Given the description of an element on the screen output the (x, y) to click on. 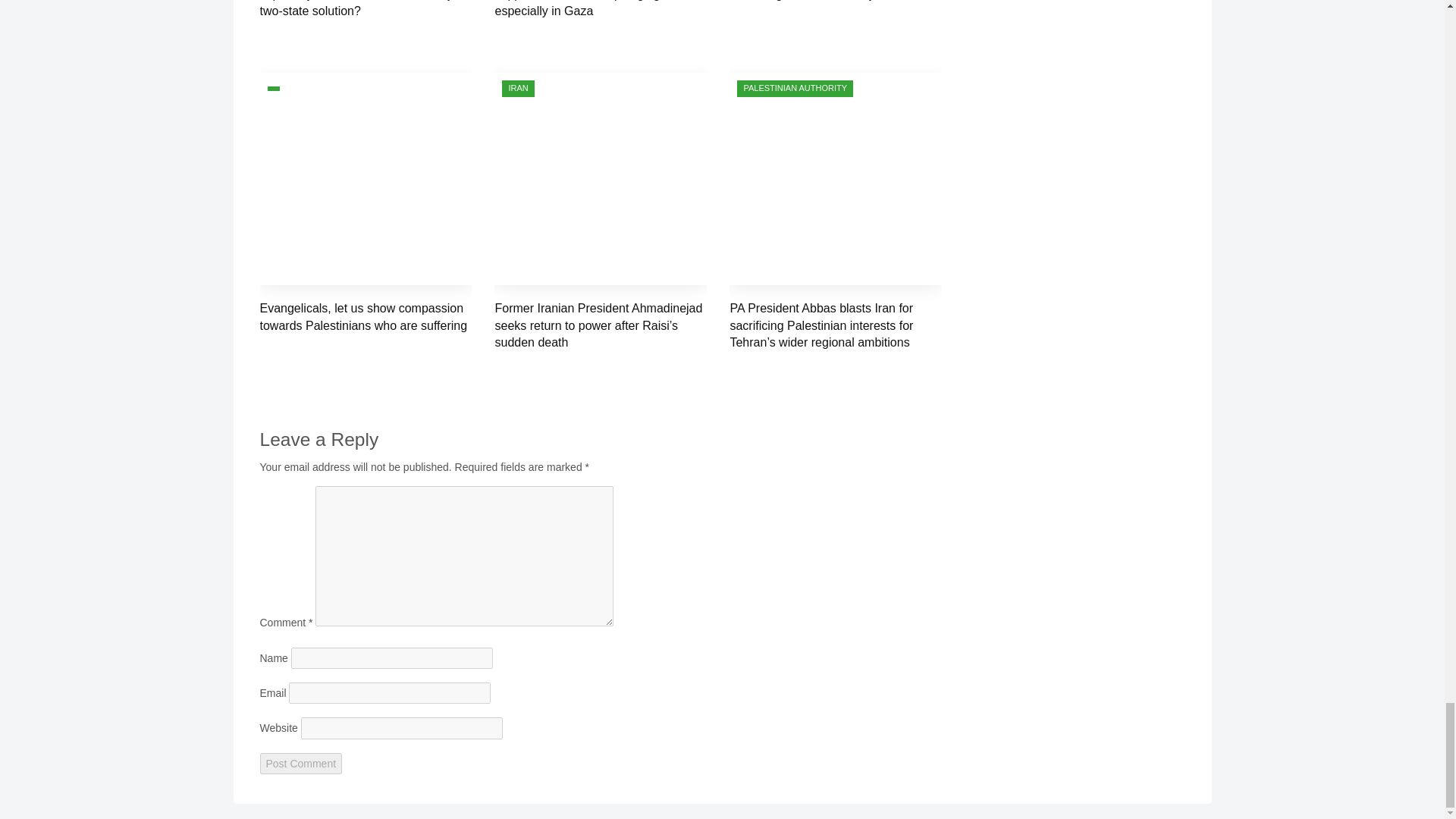
IRAN (518, 88)
Post Comment (300, 762)
